Given the description of an element on the screen output the (x, y) to click on. 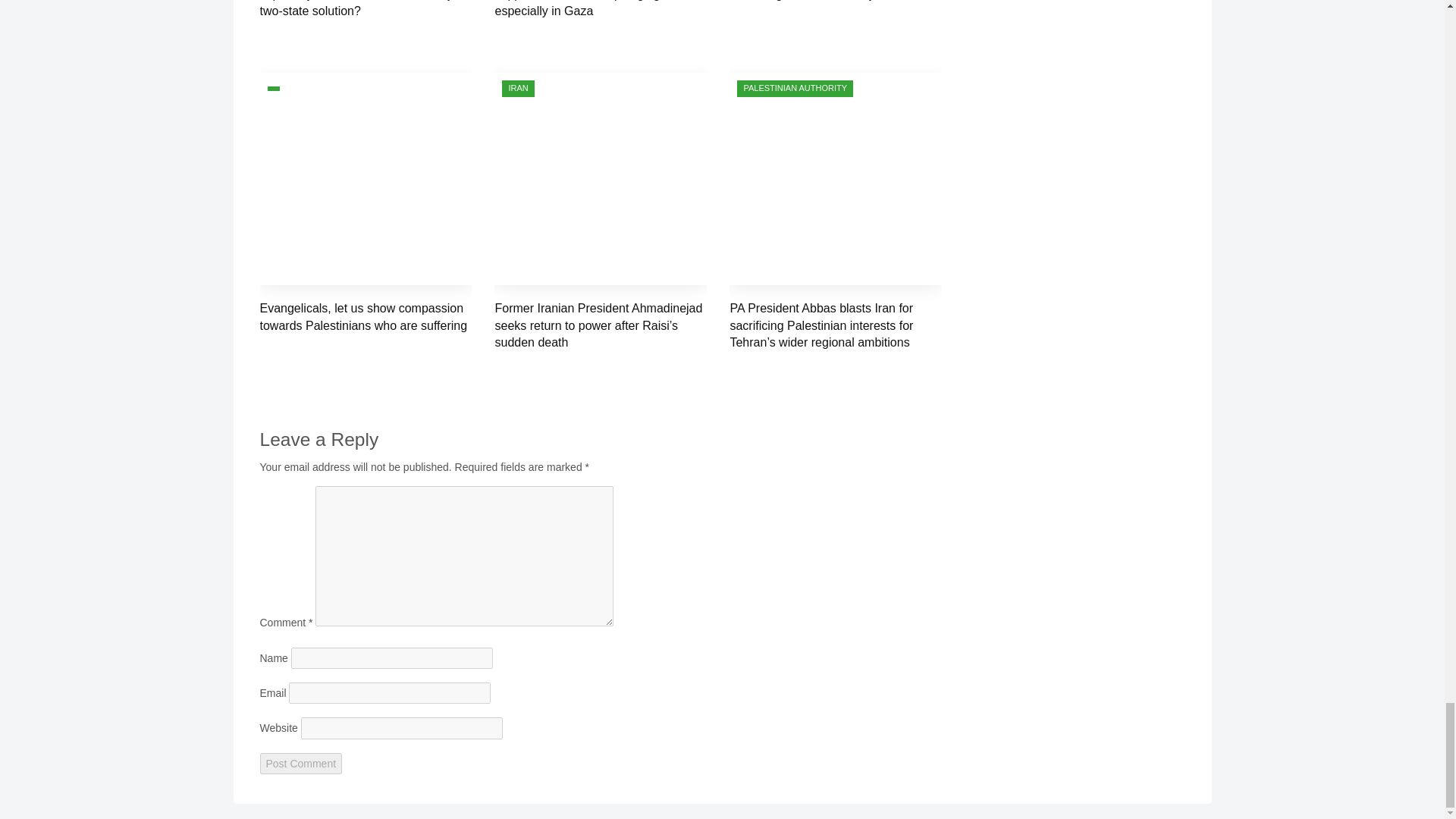
IRAN (518, 88)
Post Comment (300, 762)
